Given the description of an element on the screen output the (x, y) to click on. 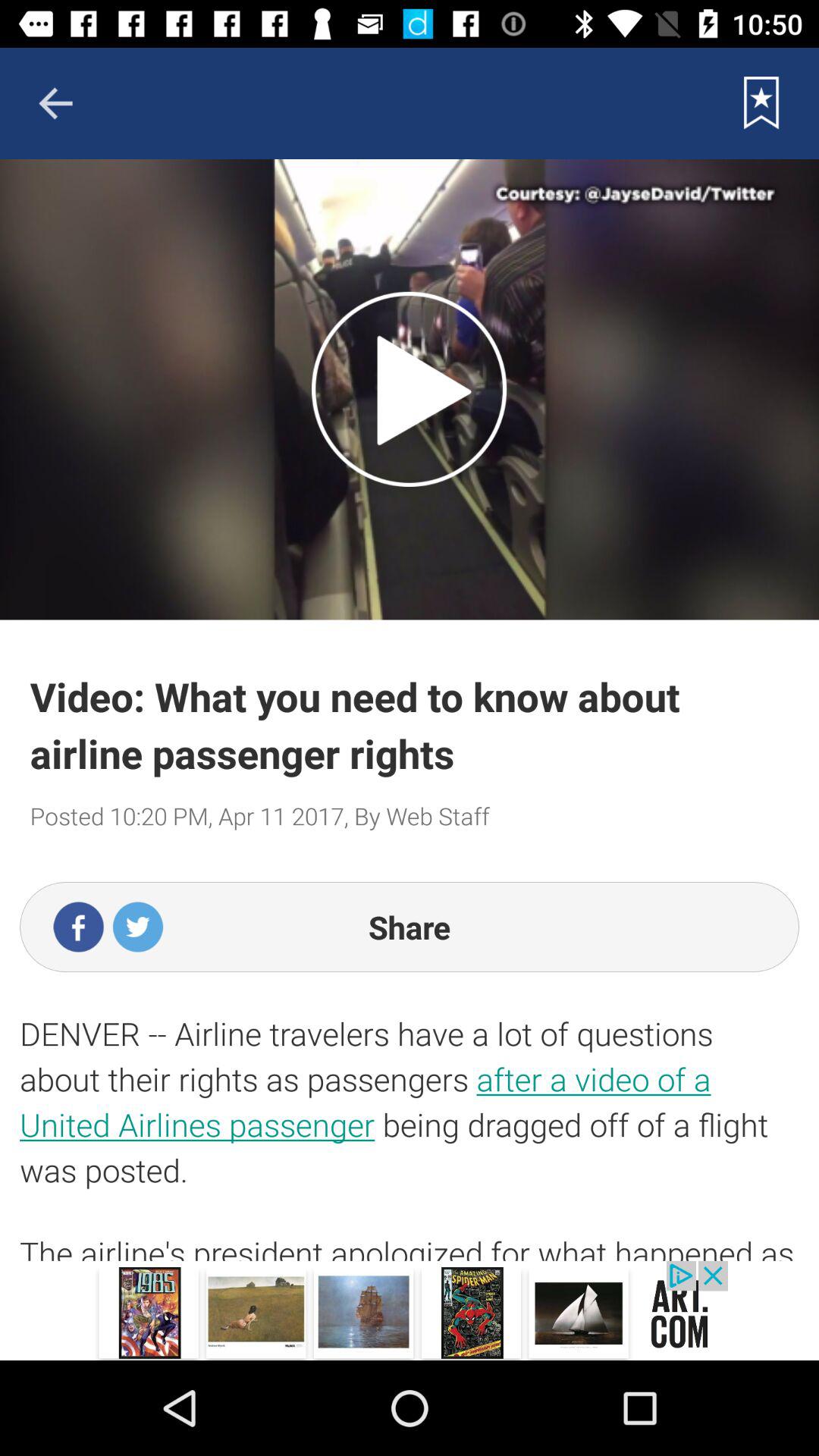
bookmark icon (761, 102)
